Given the description of an element on the screen output the (x, y) to click on. 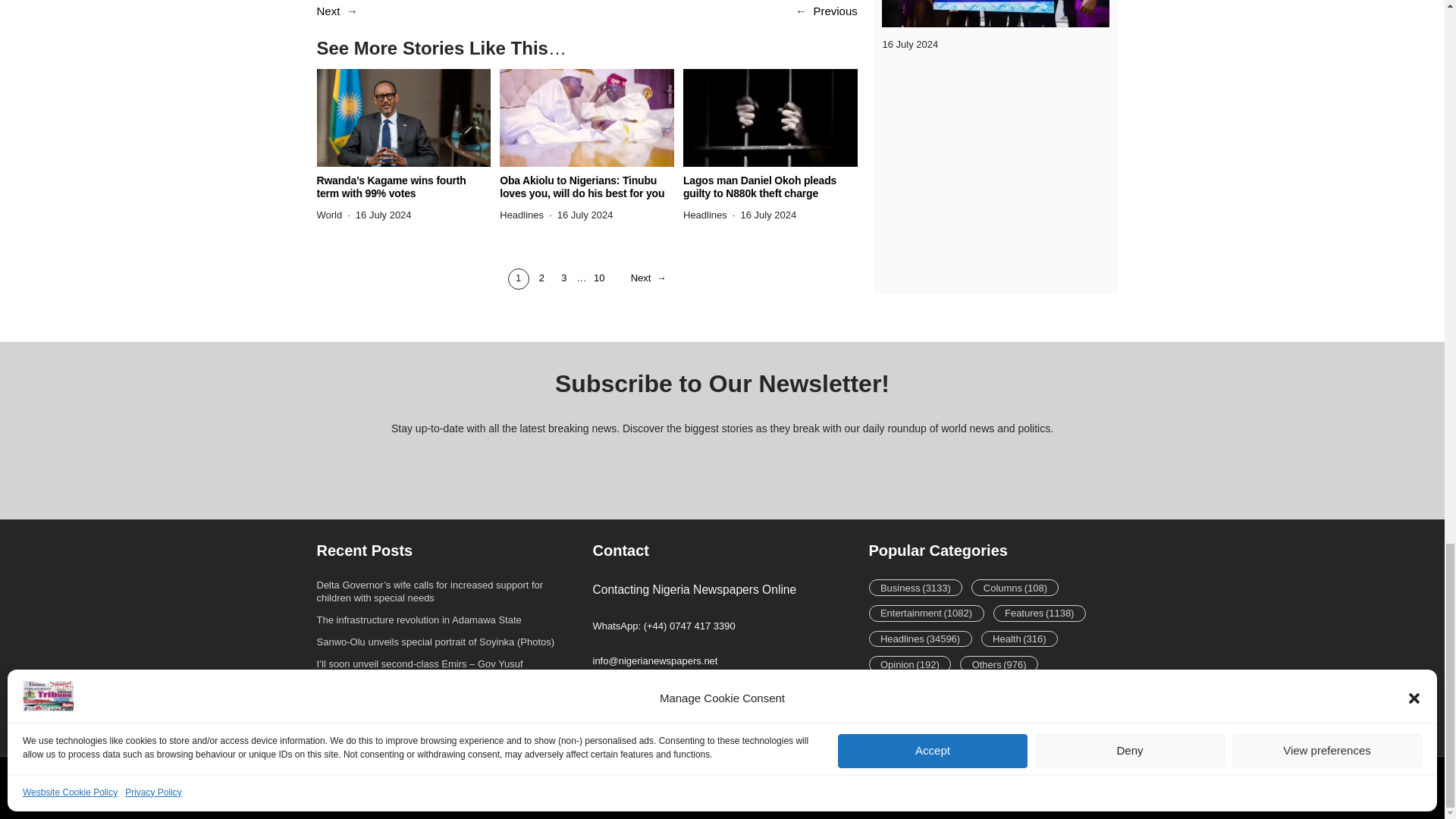
Lagos man Daniel Okoh pleads guilty to N880k theft charge (769, 186)
World (329, 214)
Next (328, 10)
Headlines (521, 214)
Previous (834, 10)
